Given the description of an element on the screen output the (x, y) to click on. 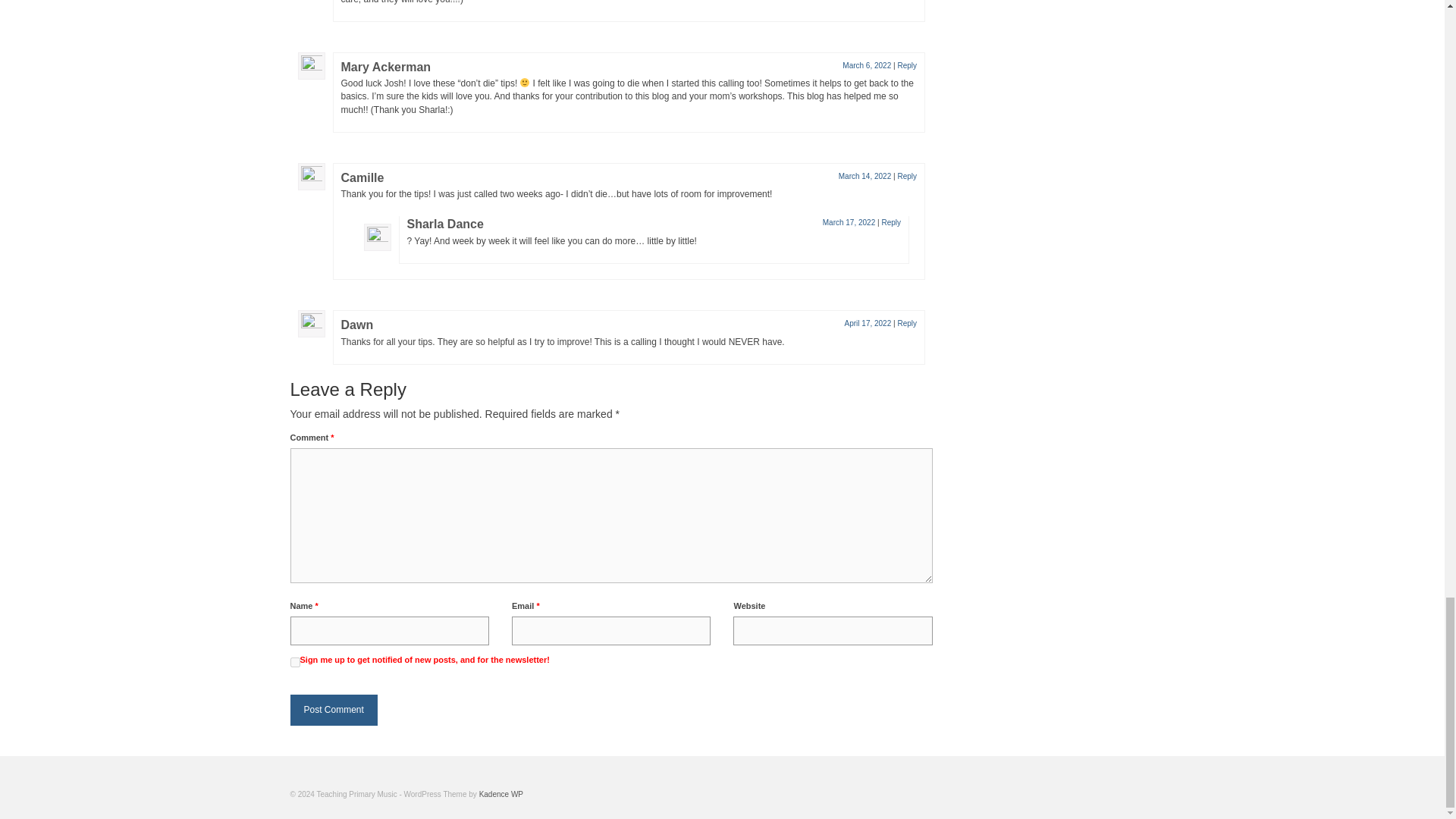
Reply (890, 222)
Reply (906, 65)
1 (294, 662)
March 17, 2022 (849, 222)
Reply (906, 323)
Kadence WP (500, 794)
April 17, 2022 (867, 323)
Reply (906, 175)
Post Comment (333, 709)
March 6, 2022 (867, 65)
March 14, 2022 (864, 175)
Post Comment (333, 709)
